Given the description of an element on the screen output the (x, y) to click on. 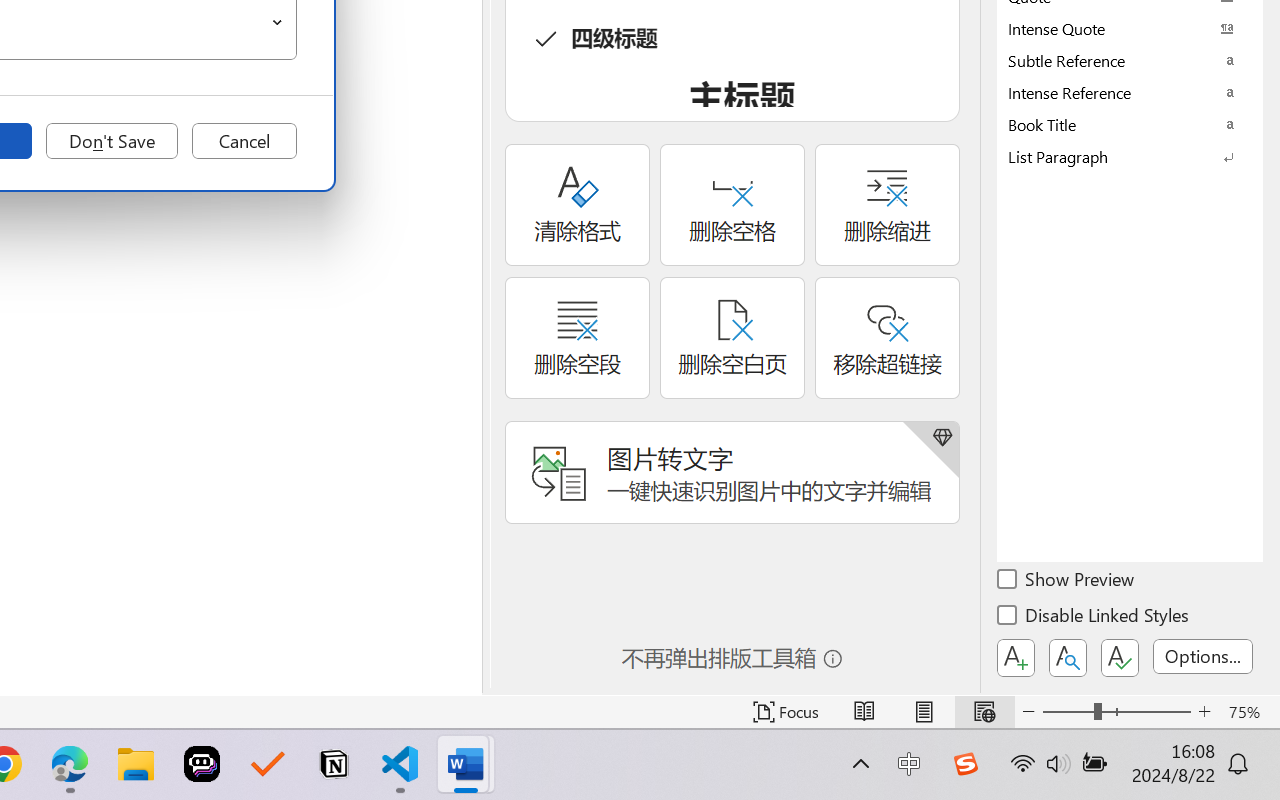
Zoom In (1204, 712)
Print Layout (924, 712)
Class: NetUIButton (1119, 657)
